Given the description of an element on the screen output the (x, y) to click on. 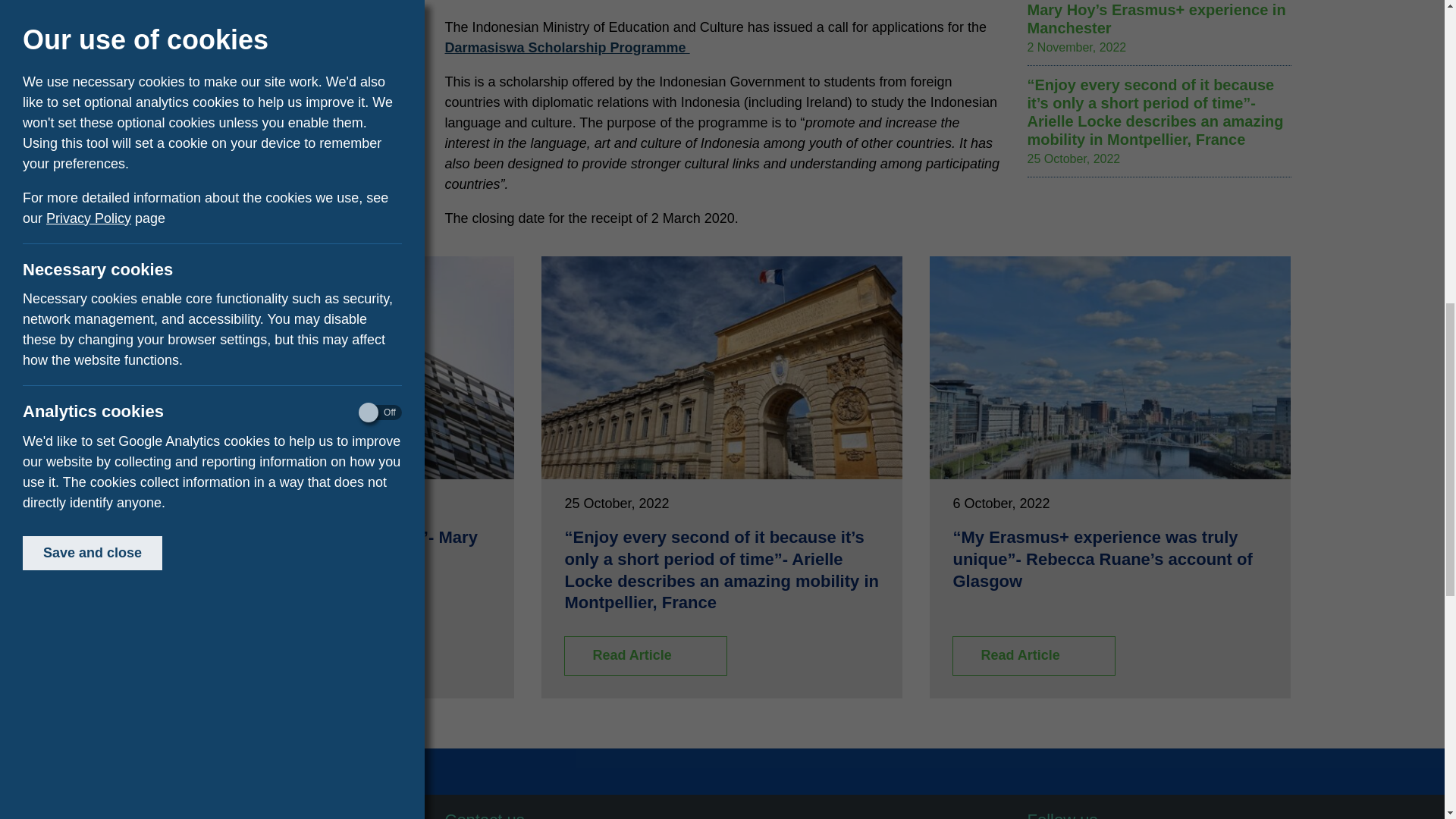
Darmasiswa Scholarship Programme  (566, 47)
